Given the description of an element on the screen output the (x, y) to click on. 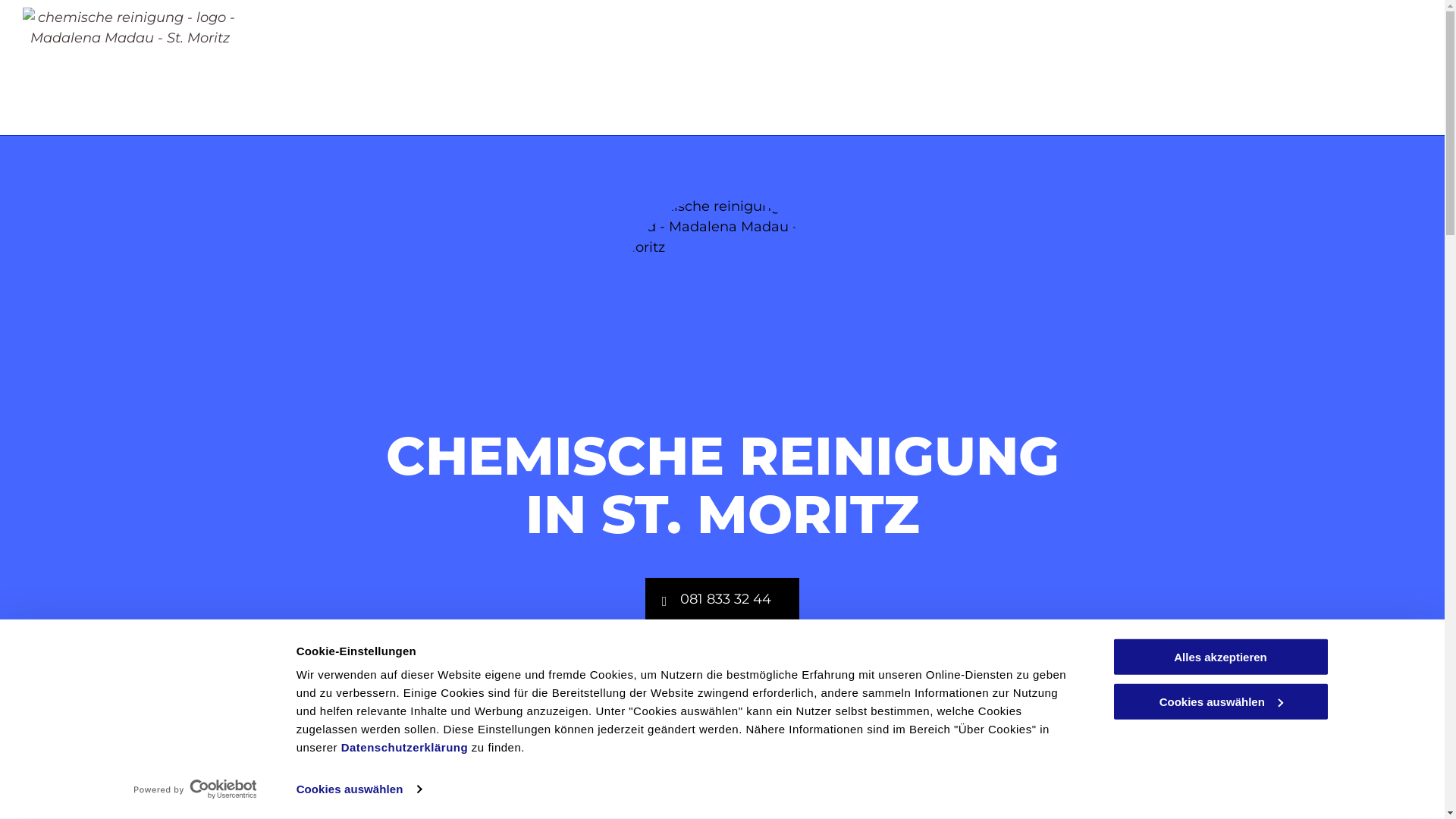
Alles akzeptieren Element type: text (1219, 656)
Lieferung Element type: text (1070, 731)
081 833 32 44 Element type: text (722, 599)
Express-Service Element type: text (374, 731)
